Given the description of an element on the screen output the (x, y) to click on. 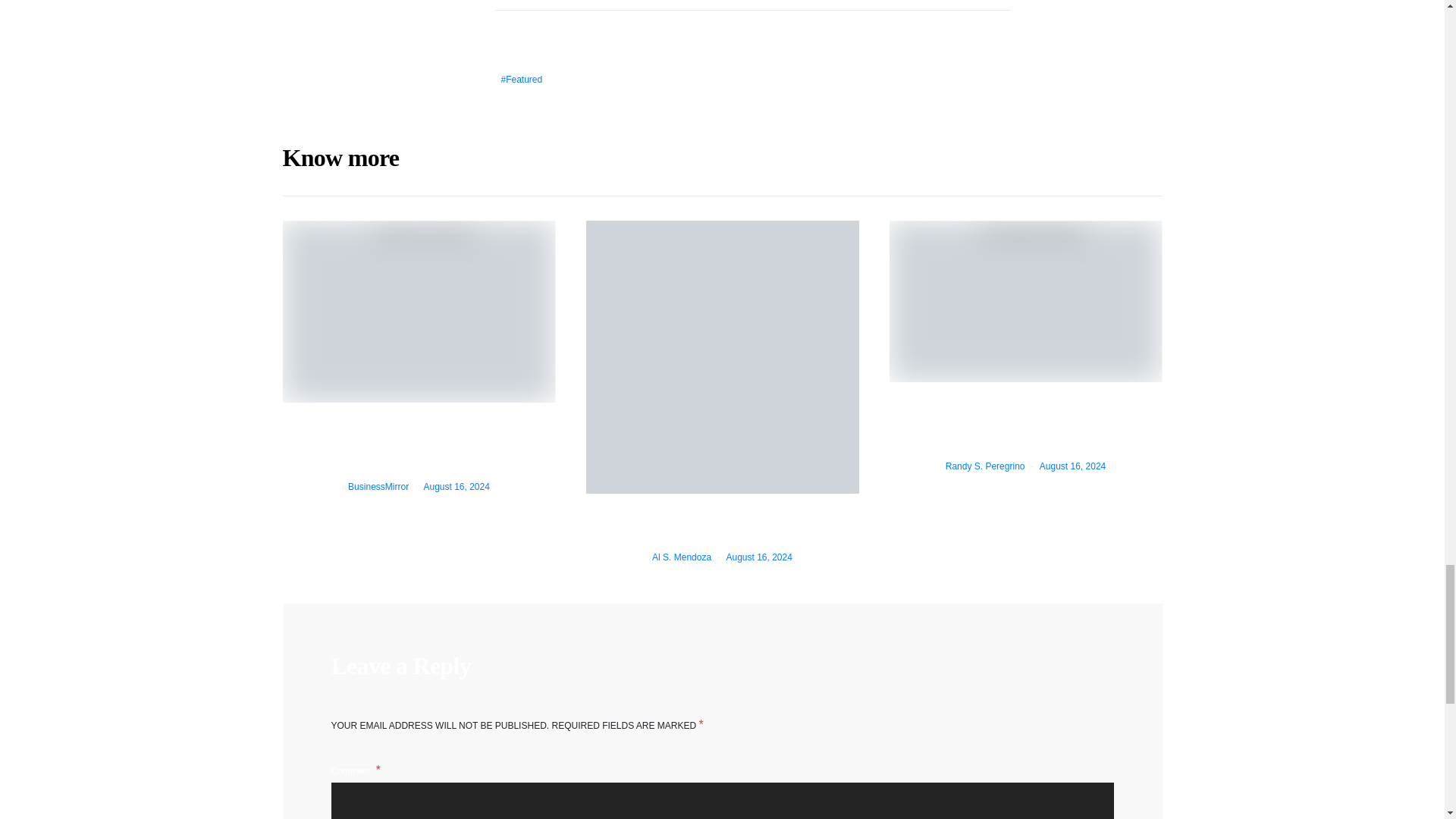
View all posts by Randy S. Peregrino (984, 466)
View all posts by Al S. Mendoza (681, 557)
View all posts by BusinessMirror (378, 486)
